Given the description of an element on the screen output the (x, y) to click on. 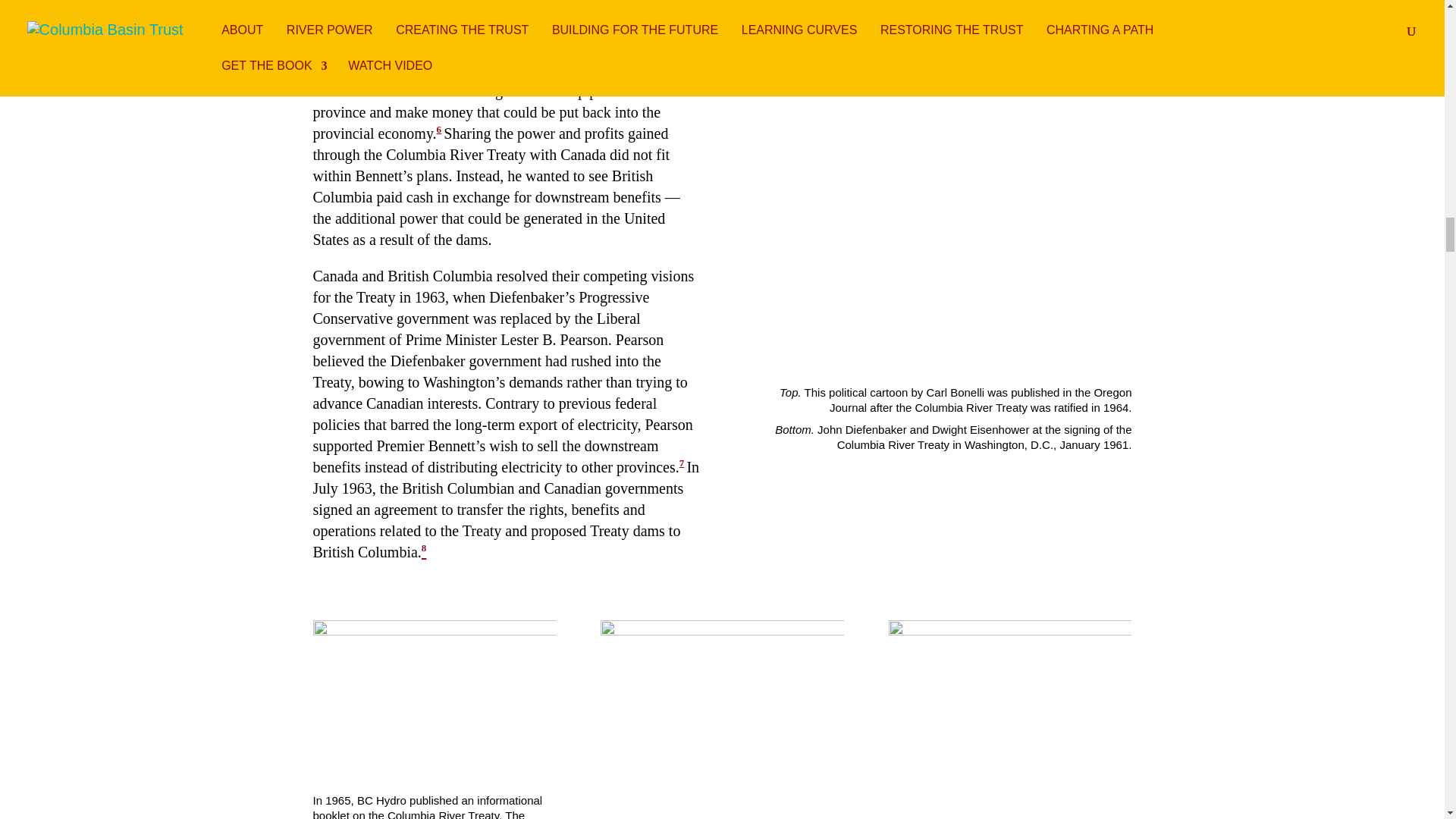
p23-C (433, 694)
p22-B (937, 18)
p23-A (1009, 719)
p22-A (937, 210)
p23-B (721, 703)
